Given the description of an element on the screen output the (x, y) to click on. 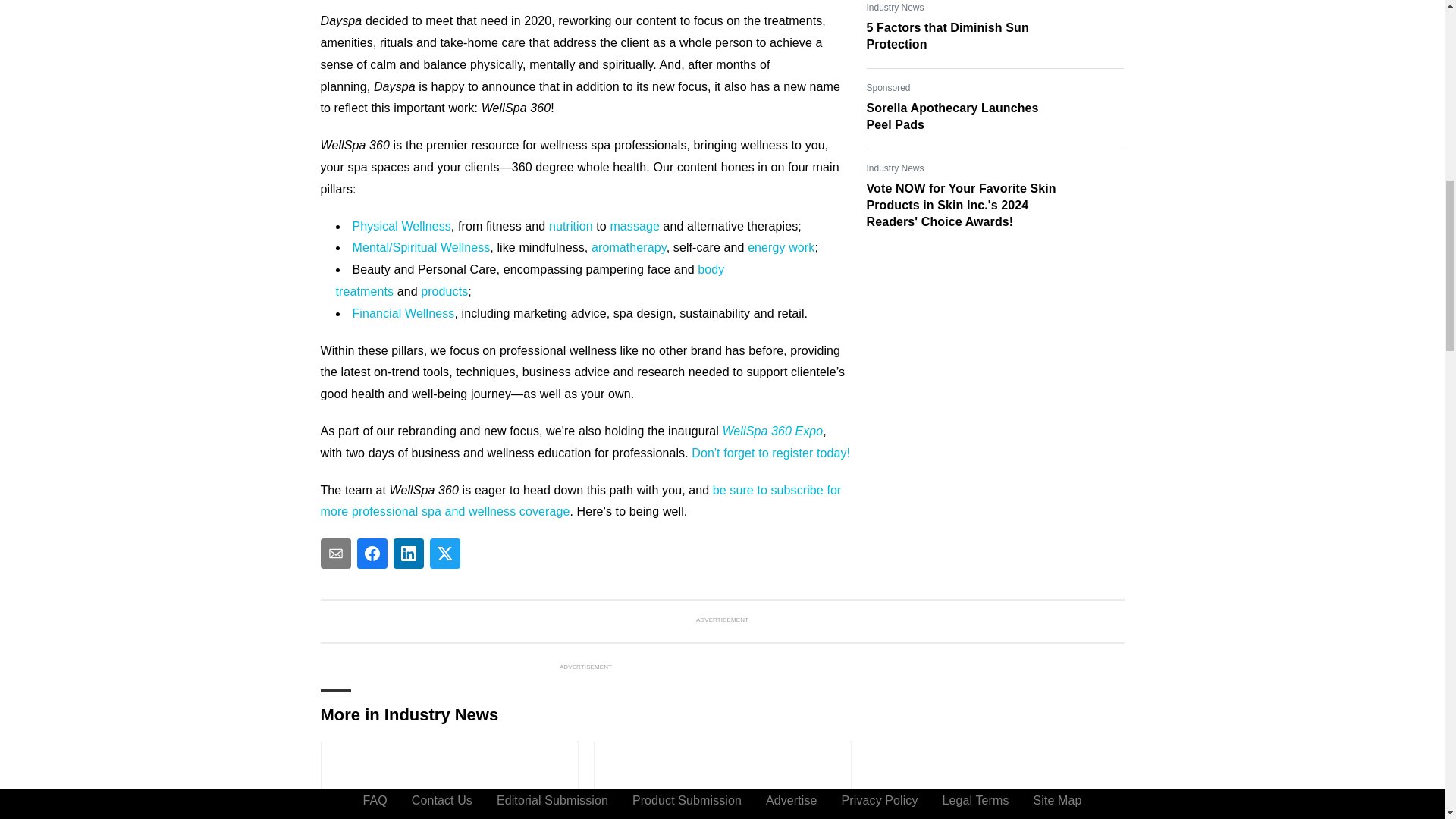
Share To email (335, 553)
Share To linkedin (408, 553)
Share To facebook (371, 553)
Share To twitter (444, 553)
Sponsored (888, 87)
